Given the description of an element on the screen output the (x, y) to click on. 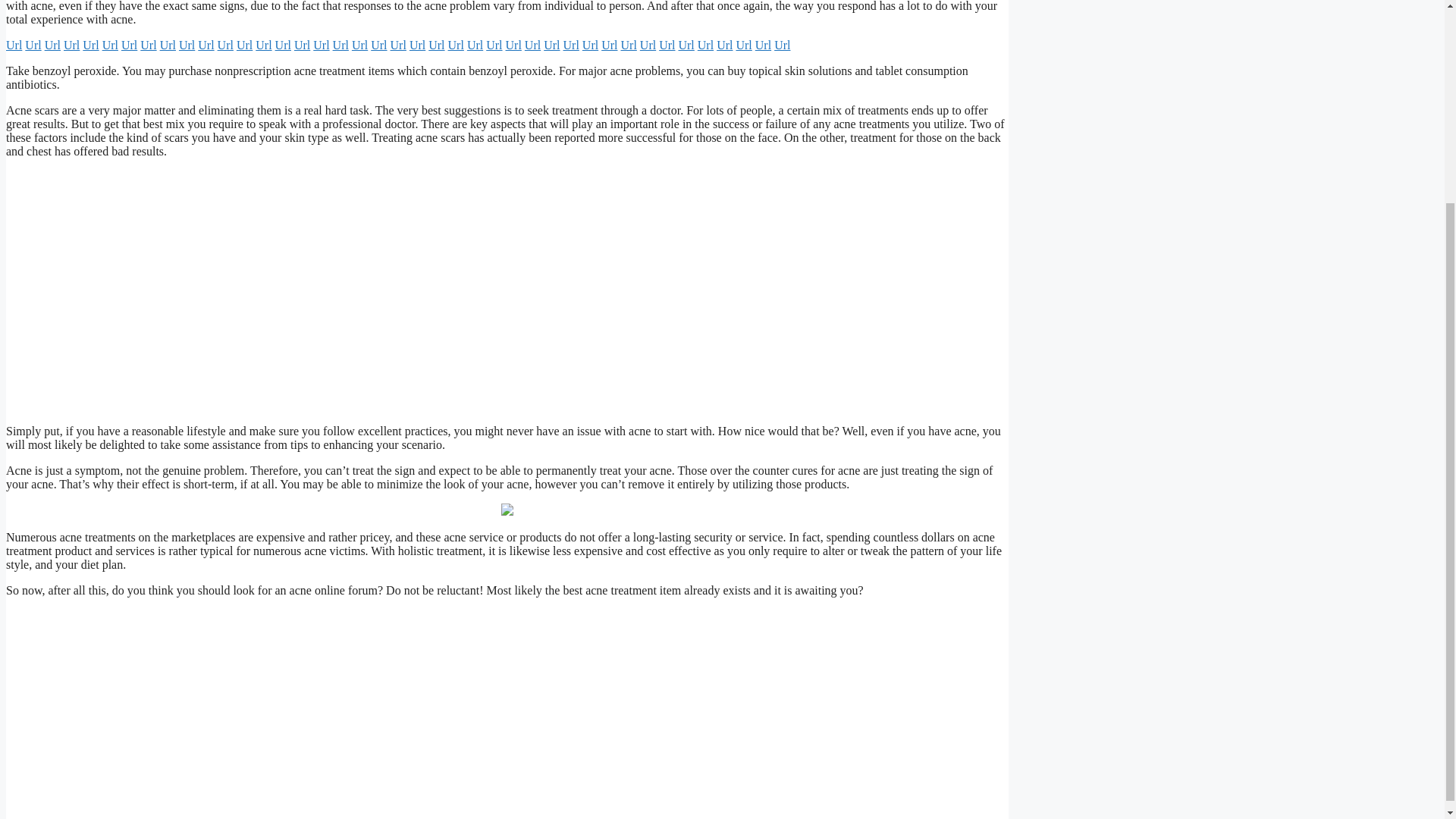
Url (168, 44)
Url (53, 44)
Url (32, 44)
Url (360, 44)
Url (206, 44)
Url (128, 44)
Url (513, 44)
Url (72, 44)
Url (13, 44)
Url (90, 44)
